Given the description of an element on the screen output the (x, y) to click on. 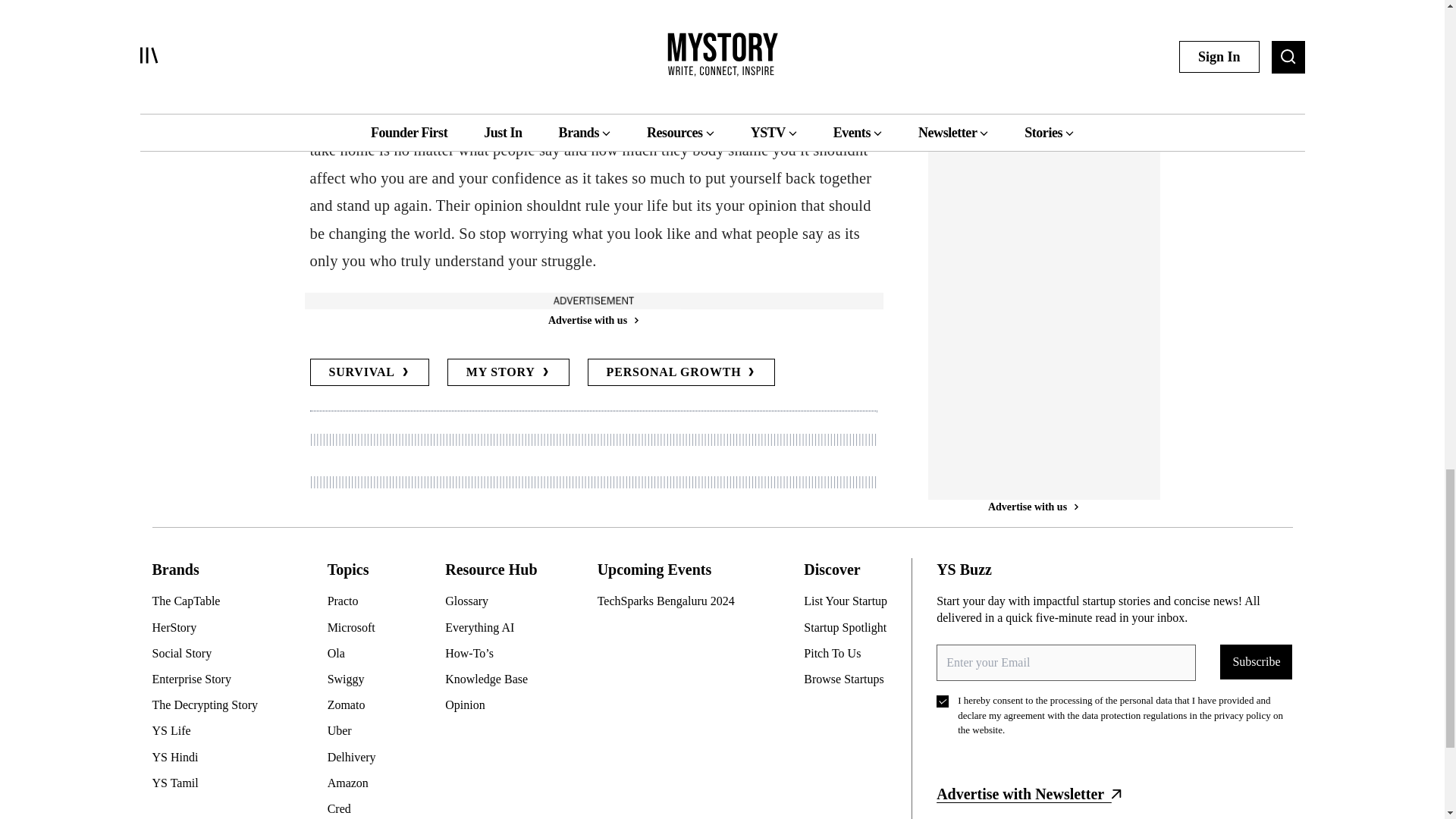
Enterprise Story (210, 678)
The CapTable (210, 600)
Social Story (210, 653)
PERSONAL GROWTH (682, 371)
Advertise with us (592, 320)
SURVIVAL (368, 371)
Advertise with us (1032, 413)
HerStory (210, 627)
The Decrypting Story (210, 704)
MY STORY (507, 371)
